Given the description of an element on the screen output the (x, y) to click on. 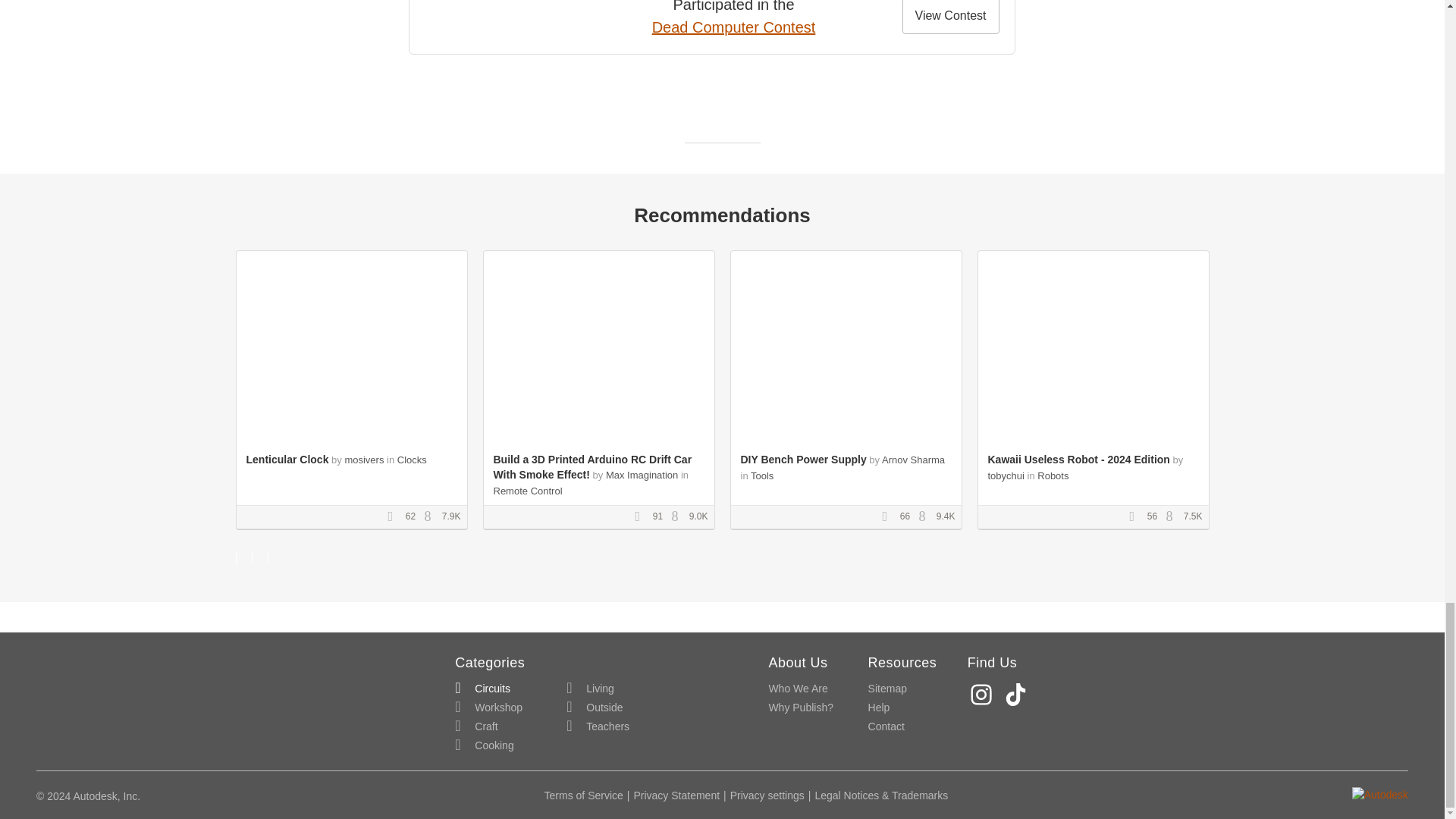
View Contest (950, 17)
Favorites Count (395, 516)
Kawaii Useless Robot - 2024 Edition (1078, 459)
Circuits (482, 688)
Craft (475, 726)
Arnov Sharma (913, 460)
Tools (762, 475)
DIY Bench Power Supply (802, 459)
Views Count (1173, 516)
Views Count (431, 516)
Dead Computer Contest (733, 27)
Max Imagination (641, 474)
Favorites Count (889, 516)
Remote Control (527, 490)
Clocks (411, 460)
